Given the description of an element on the screen output the (x, y) to click on. 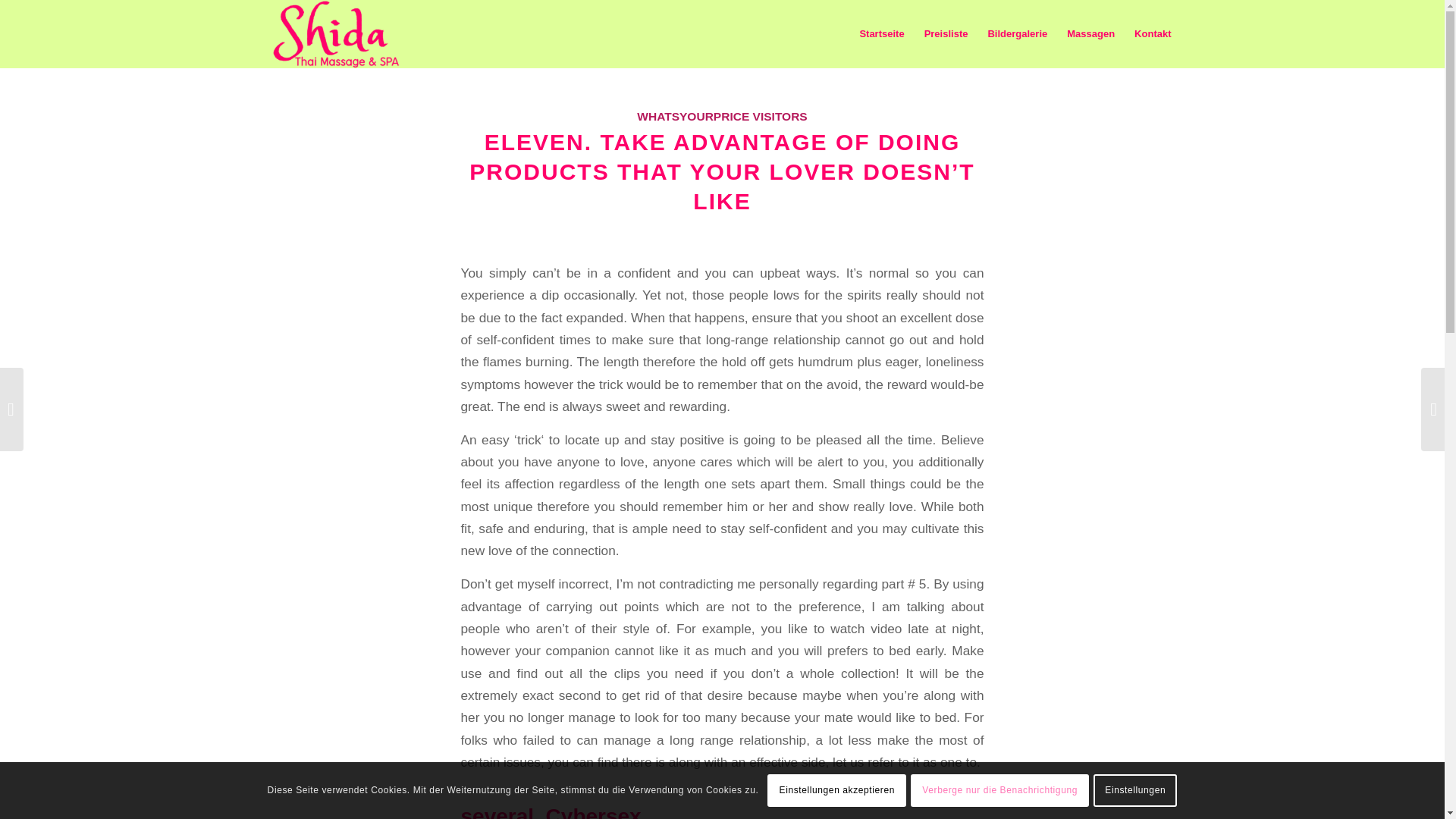
Einstellungen akzeptieren (836, 789)
WHATSYOURPRICE VISITORS (721, 115)
Massagen (1090, 33)
Startseite (881, 33)
Verberge nur die Benachrichtigung (1000, 789)
Bildergalerie (1016, 33)
Einstellungen (1134, 789)
Preisliste (946, 33)
